Given the description of an element on the screen output the (x, y) to click on. 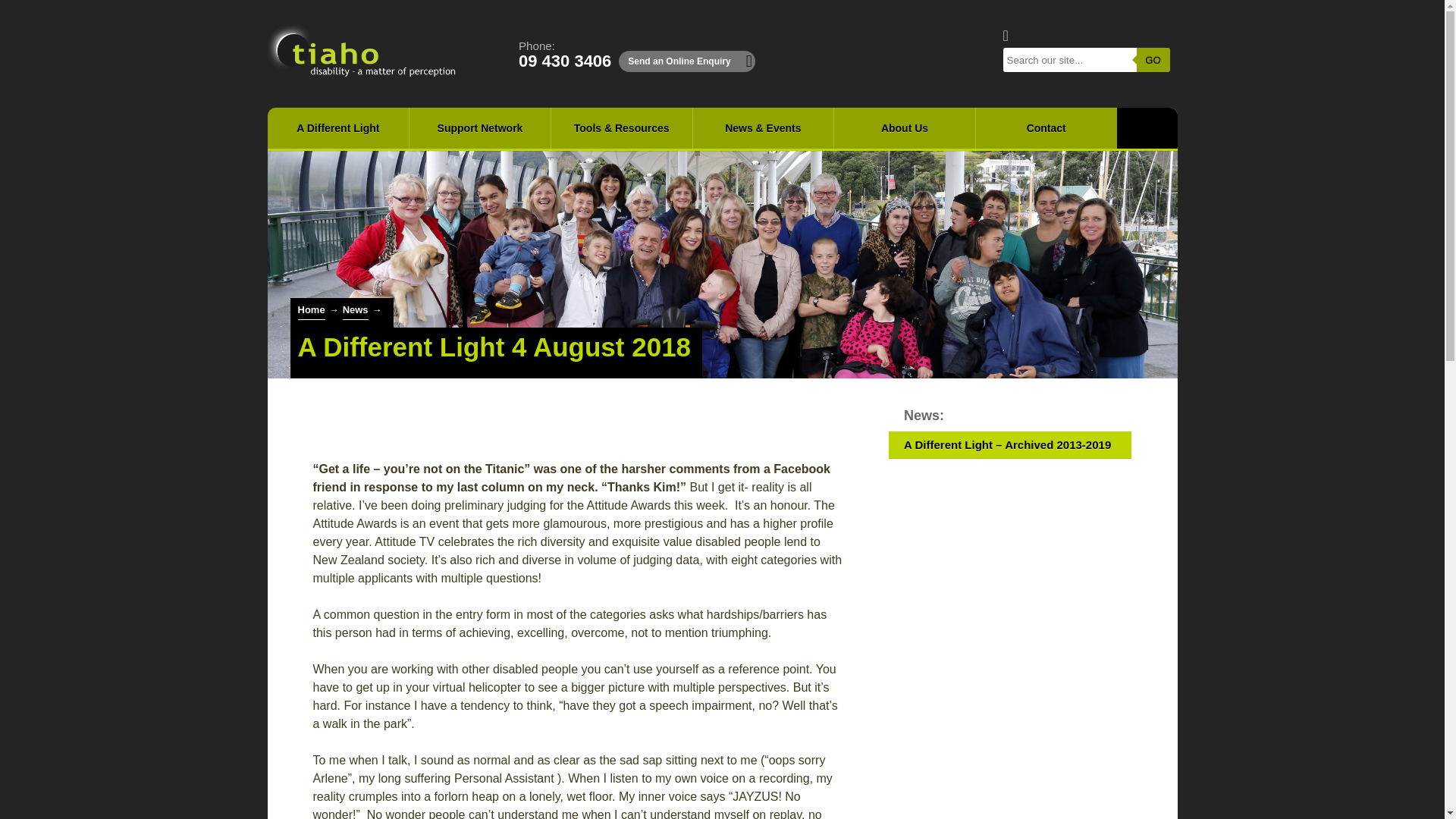
Support Network (479, 127)
News: (1009, 416)
Send an Online Enquiry (686, 61)
News (355, 310)
Call Tiaho Trust (564, 54)
Home (564, 54)
A Different Light (310, 310)
GO (337, 127)
Contact (1152, 59)
